Given the description of an element on the screen output the (x, y) to click on. 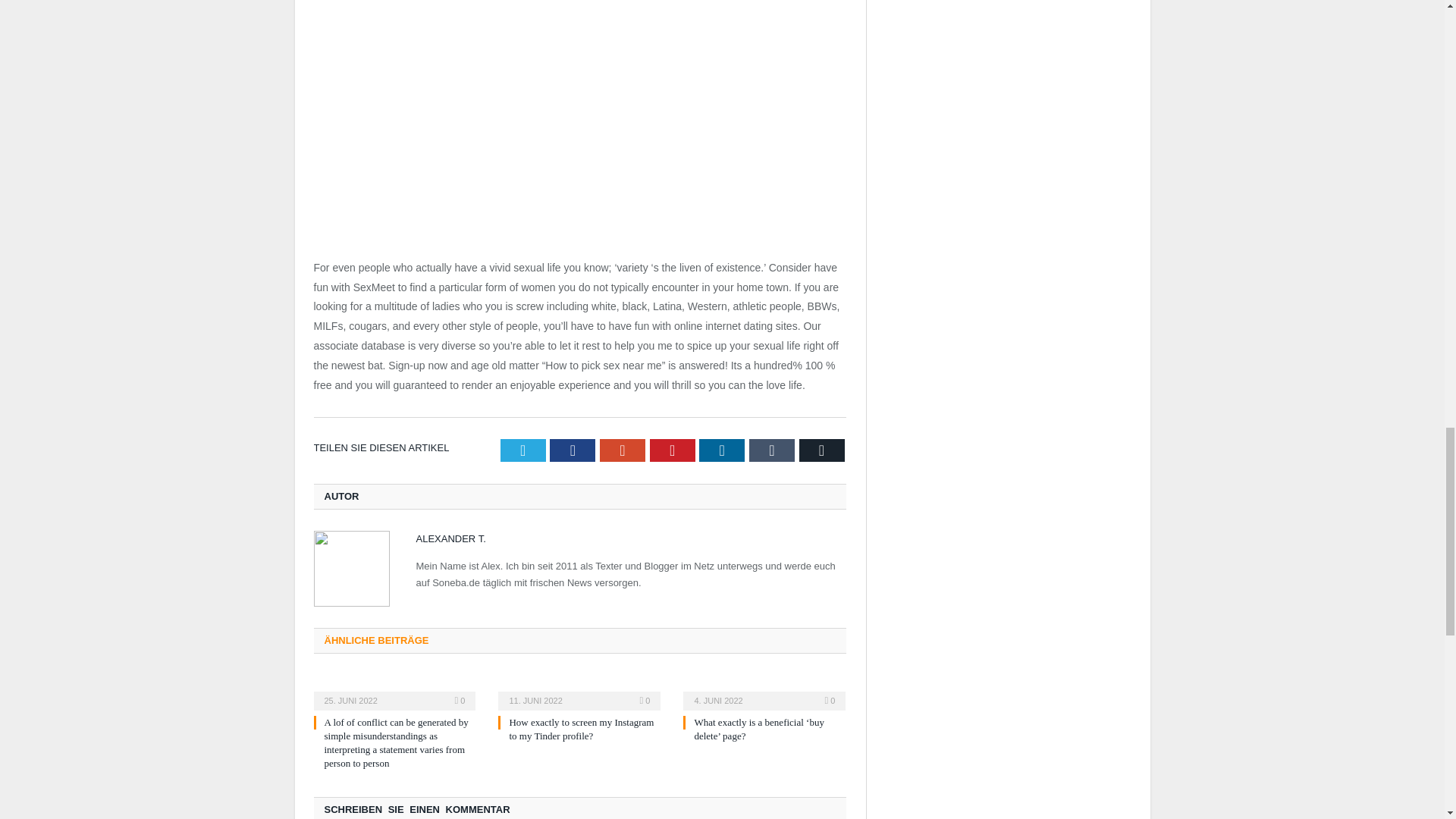
Pinterest (672, 449)
Email (821, 449)
How exactly to screen my Instagram to my Tinder profile? (580, 729)
Twitter (523, 449)
Tumblr (771, 449)
LinkedIn (721, 449)
Facebook (572, 449)
ALEXANDER T. (449, 538)
